Given the description of an element on the screen output the (x, y) to click on. 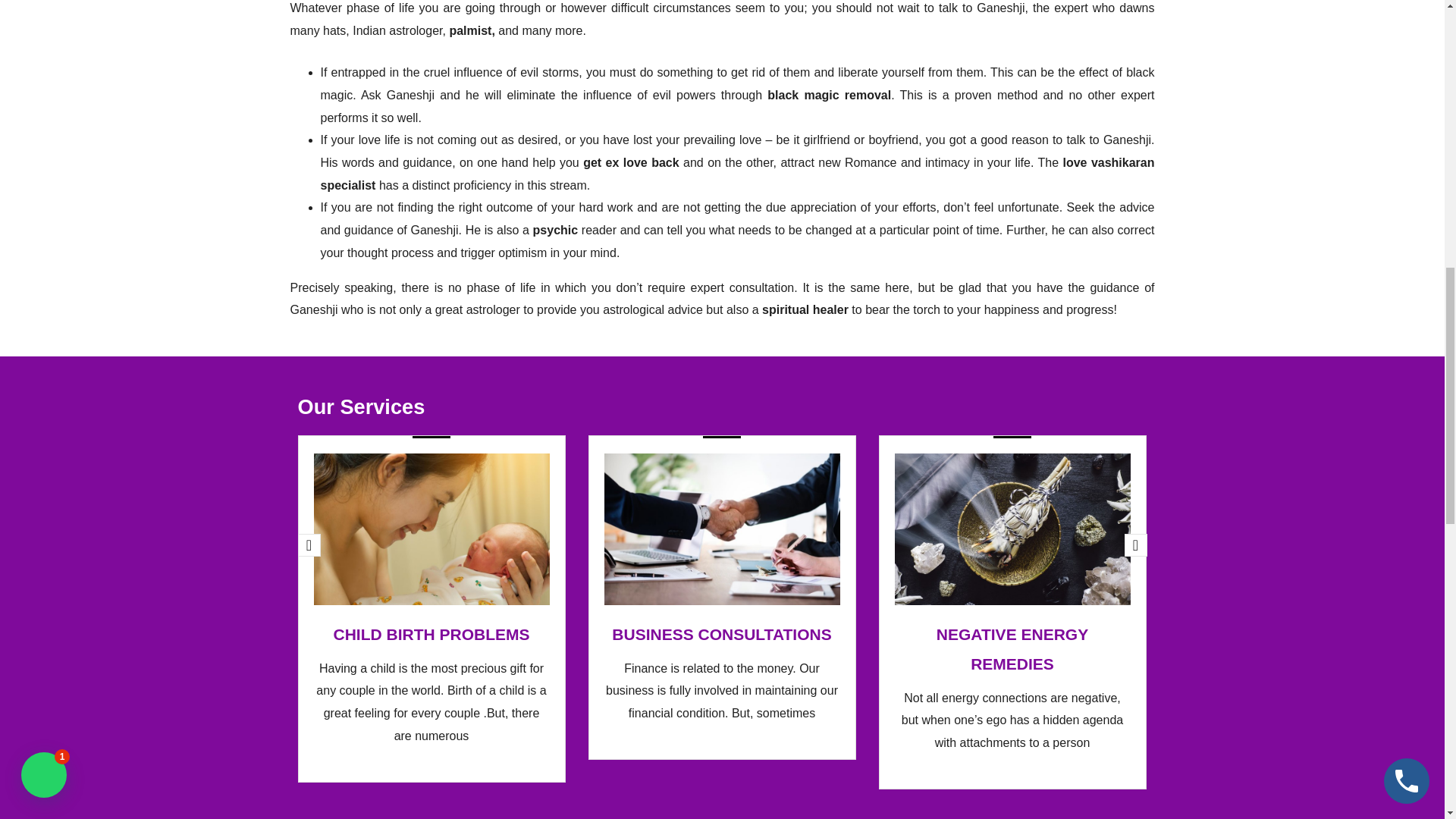
next item (1135, 544)
previous item (308, 544)
